Given the description of an element on the screen output the (x, y) to click on. 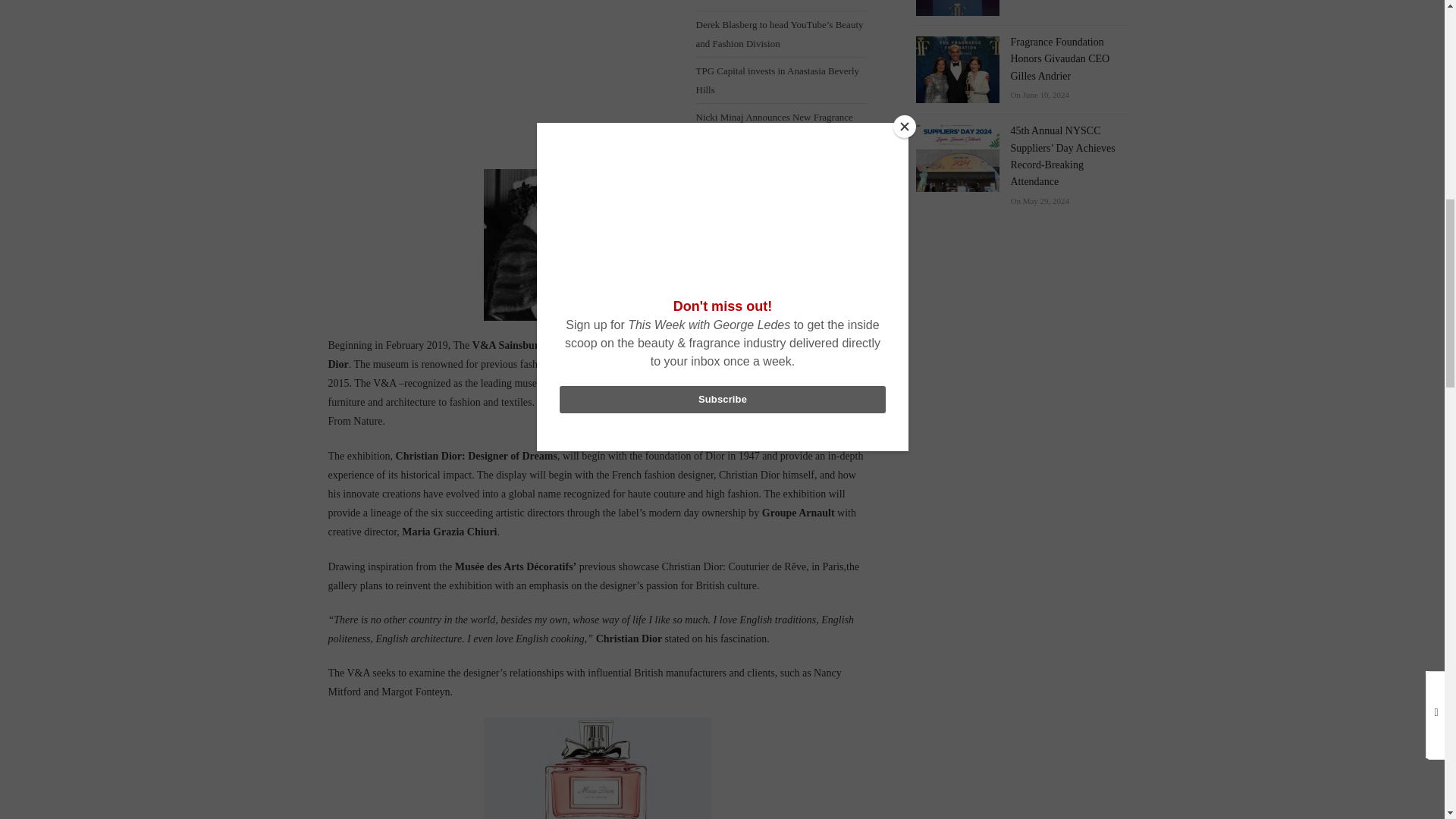
TPG Capital invests in Anastasia Beverly Hills (780, 79)
